Given the description of an element on the screen output the (x, y) to click on. 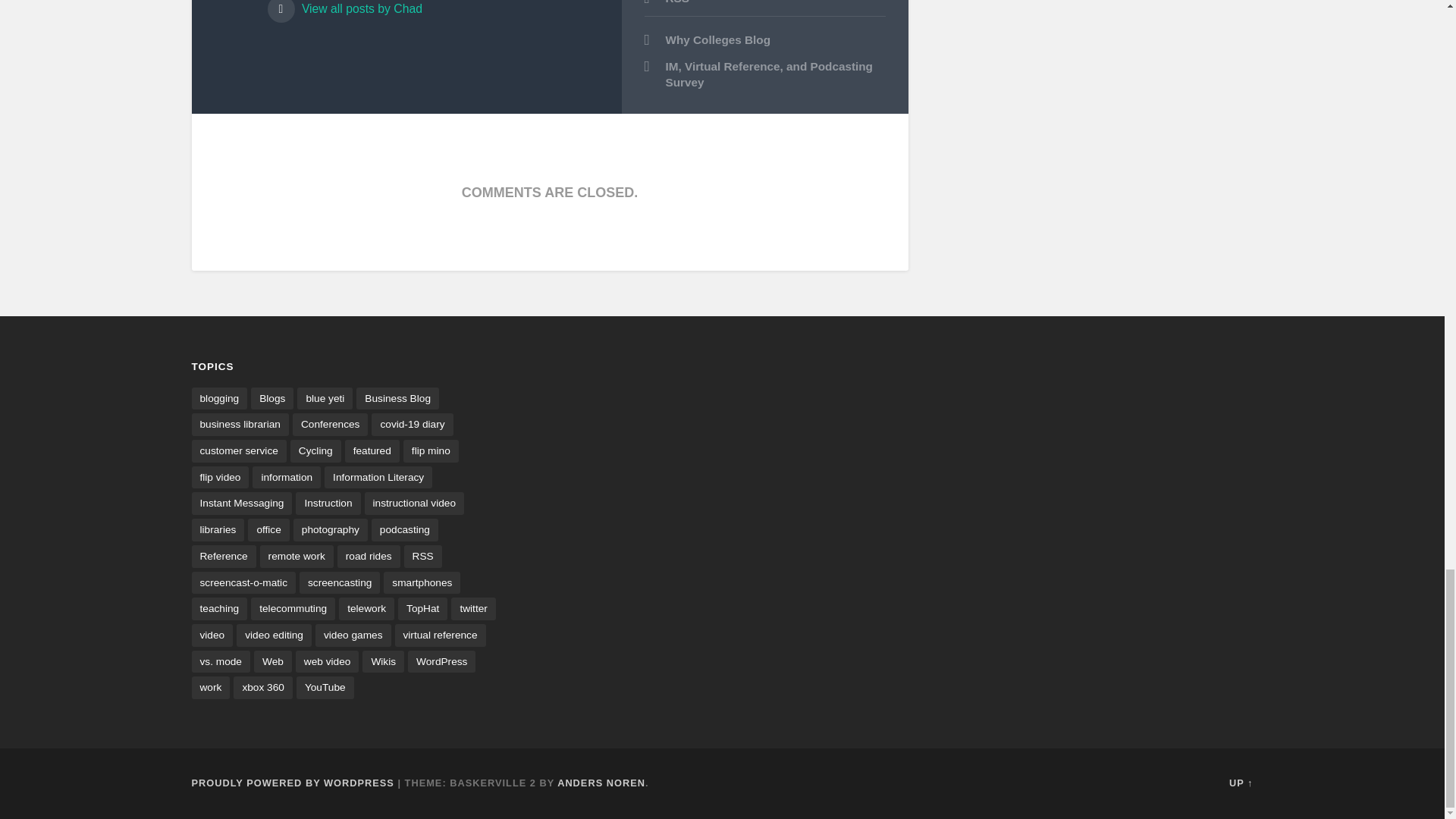
RSS (676, 2)
View all posts by Chad (432, 11)
IM, Virtual Reference, and Podcasting Survey (765, 74)
Why Colleges Blog (765, 40)
To the top (1240, 782)
